Given the description of an element on the screen output the (x, y) to click on. 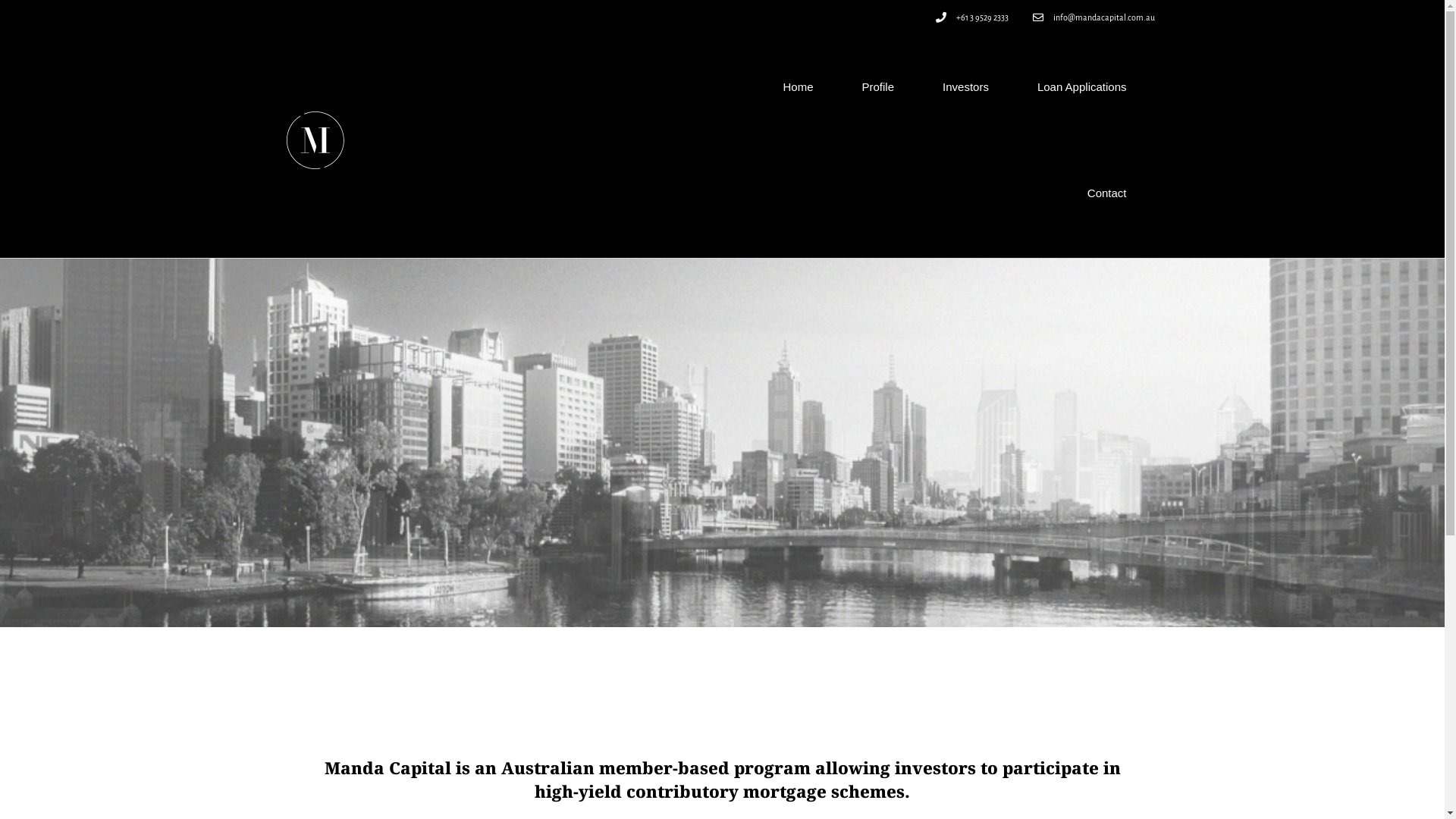
Investors Element type: text (965, 87)
Profile Element type: text (878, 87)
Contact Element type: text (1107, 193)
Home Element type: text (797, 87)
Loan Applications Element type: text (1082, 87)
